Given the description of an element on the screen output the (x, y) to click on. 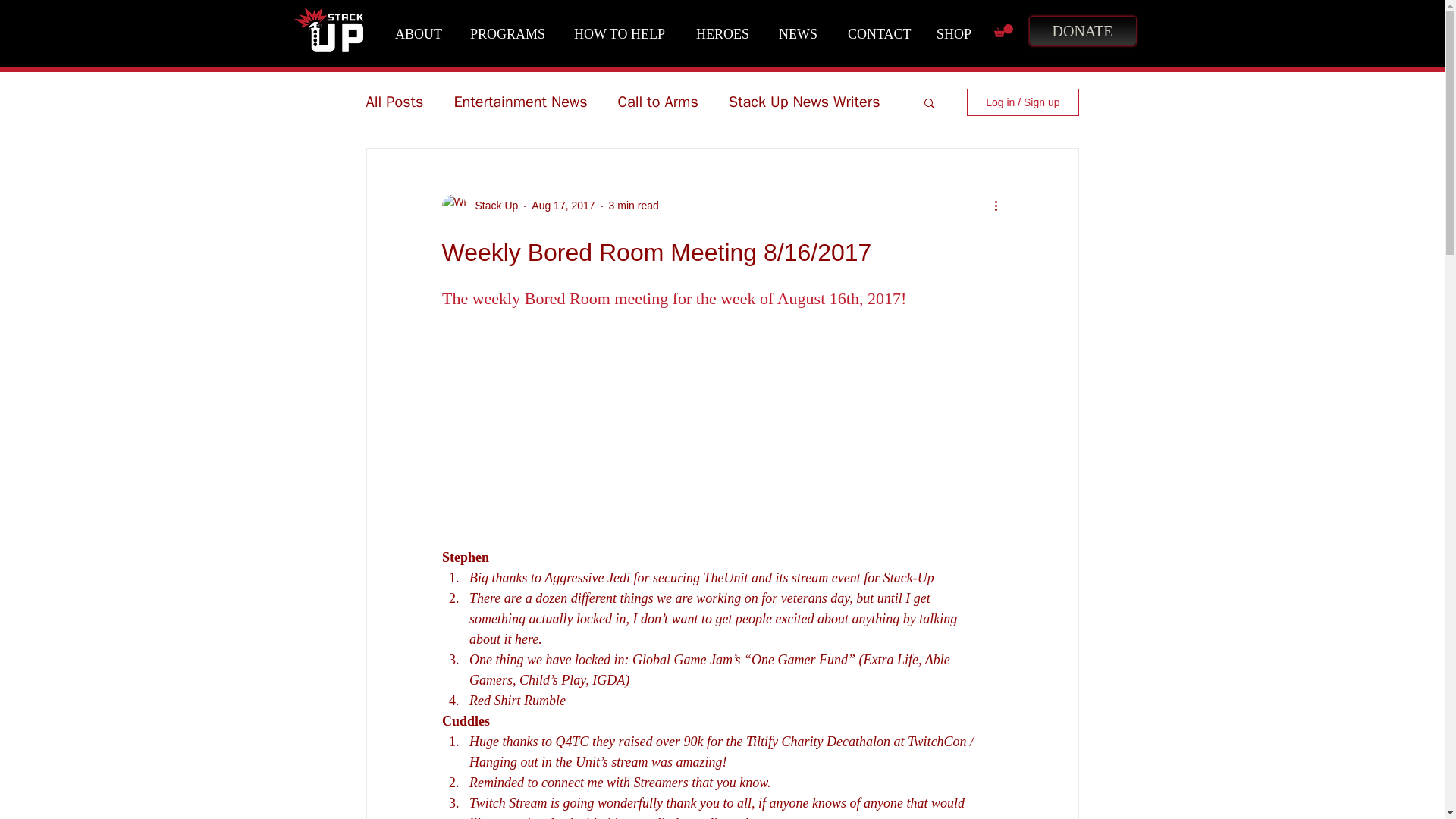
All Posts (394, 101)
3 min read (633, 205)
DONATE (1081, 30)
CONTACT (879, 34)
NEWS (801, 34)
Stack Up News Writers (804, 101)
SHOP (957, 34)
Call to Arms (657, 101)
HOW TO HELP (623, 34)
Aug 17, 2017 (562, 205)
Entertainment News (519, 101)
Stack Up (491, 205)
